Given the description of an element on the screen output the (x, y) to click on. 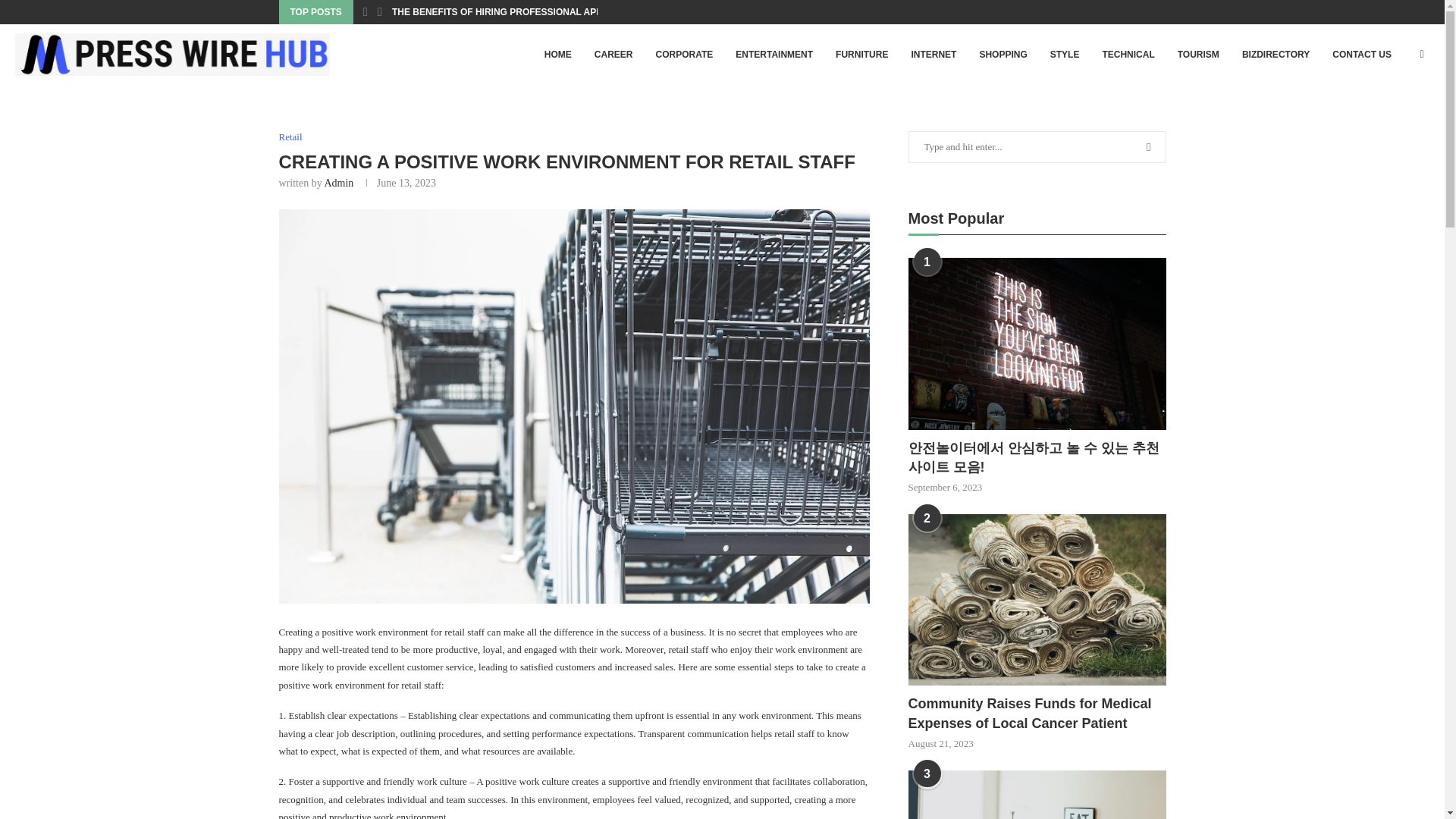
CORPORATE (685, 54)
TECHNICAL (1128, 54)
FURNITURE (861, 54)
ENTERTAINMENT (773, 54)
Retail (290, 137)
SHOPPING (1003, 54)
BIZDIRECTORY (1275, 54)
INTERNET (933, 54)
CAREER (614, 54)
TOURISM (1198, 54)
CONTACT US (1361, 54)
